Given the description of an element on the screen output the (x, y) to click on. 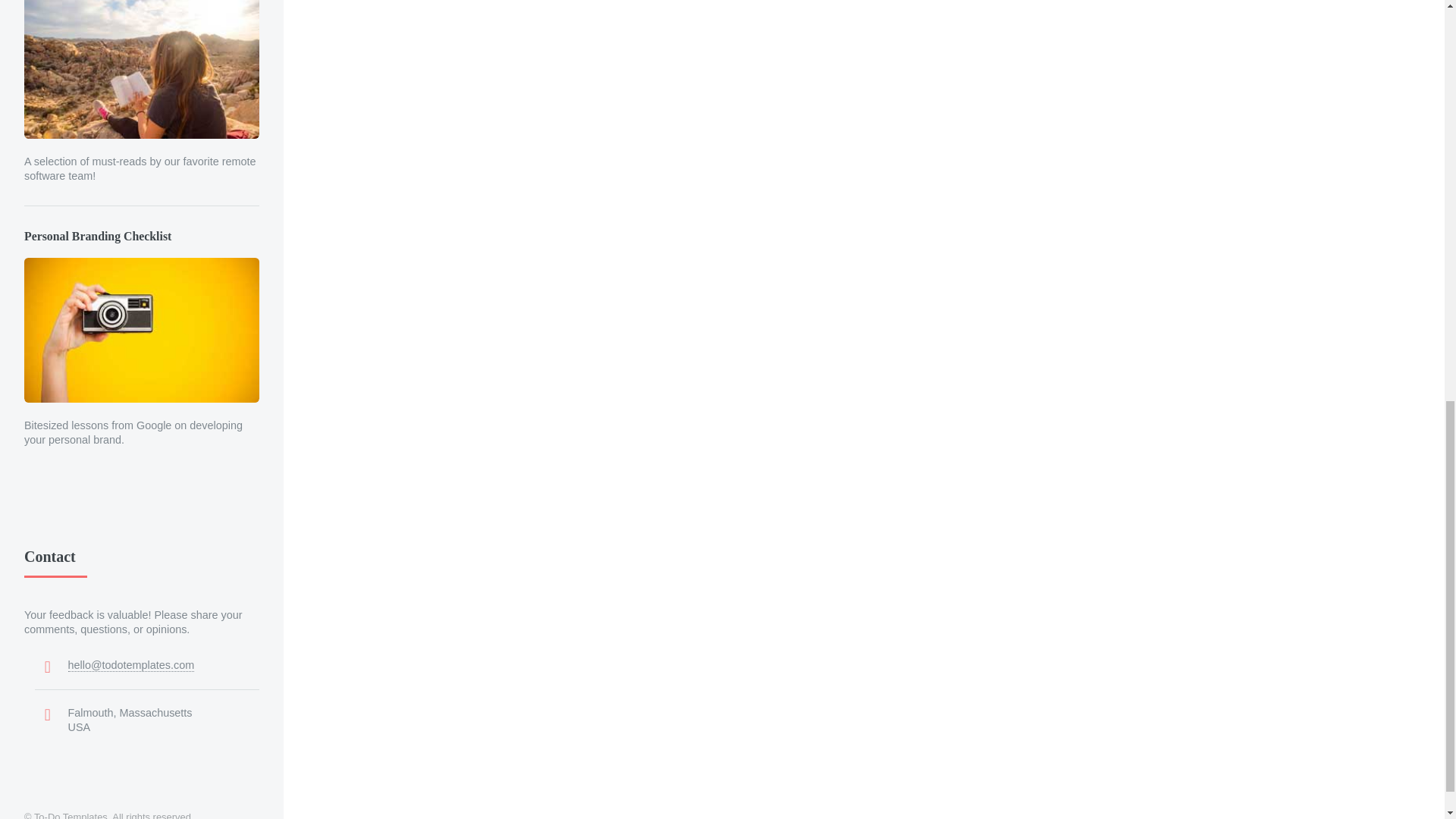
Personal Branding Checklist (141, 314)
The Doist Team Reading List (141, 69)
